Given the description of an element on the screen output the (x, y) to click on. 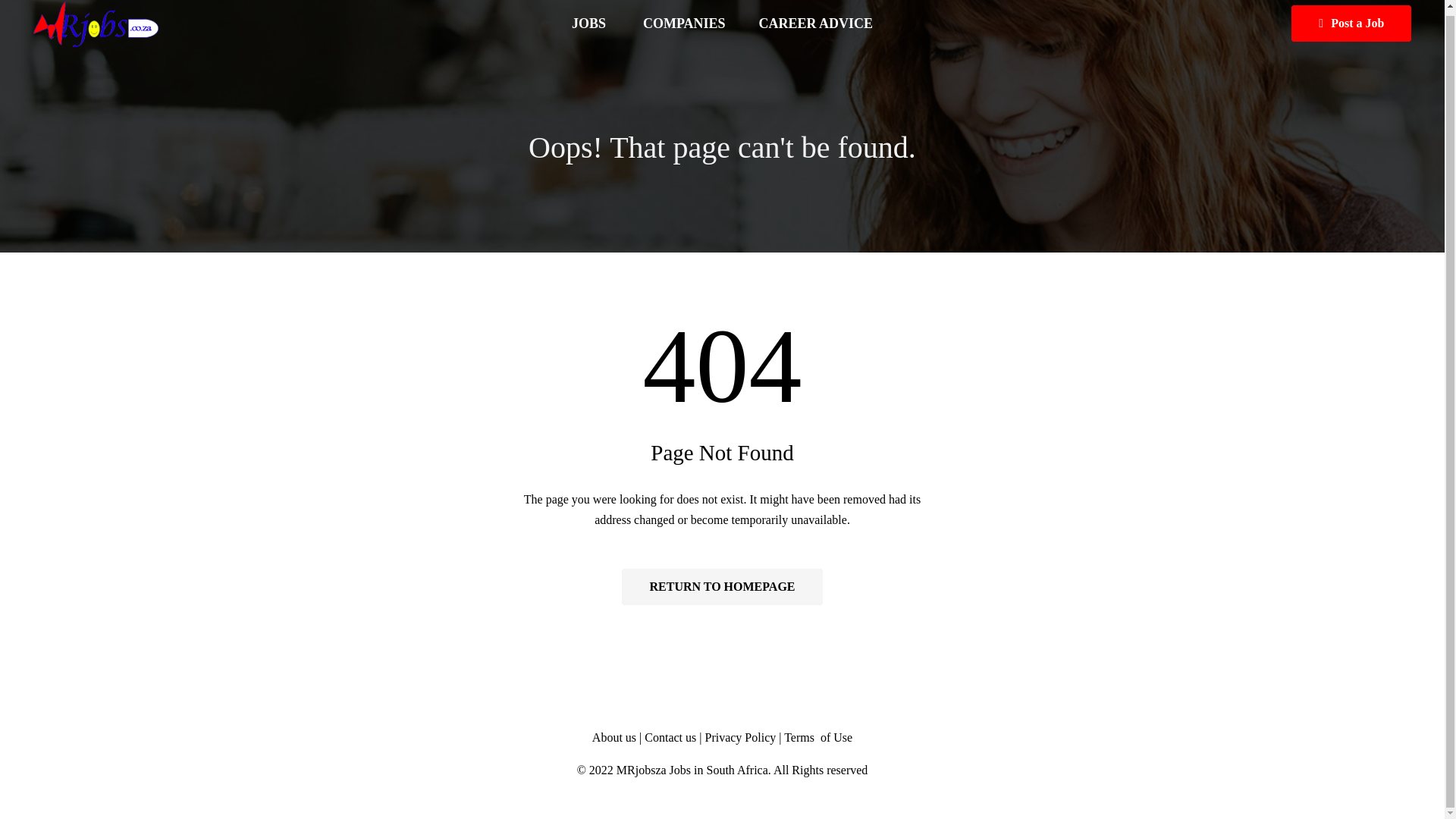
COMPANIES (684, 24)
Home Page (721, 586)
Post a Job (1350, 22)
Privacy Policy (740, 737)
RETURN TO HOMEPAGE (721, 586)
About us (614, 737)
Contact us (671, 737)
CAREER ADVICE (816, 24)
JOBS (590, 24)
Terms  of Use (817, 737)
